Given the description of an element on the screen output the (x, y) to click on. 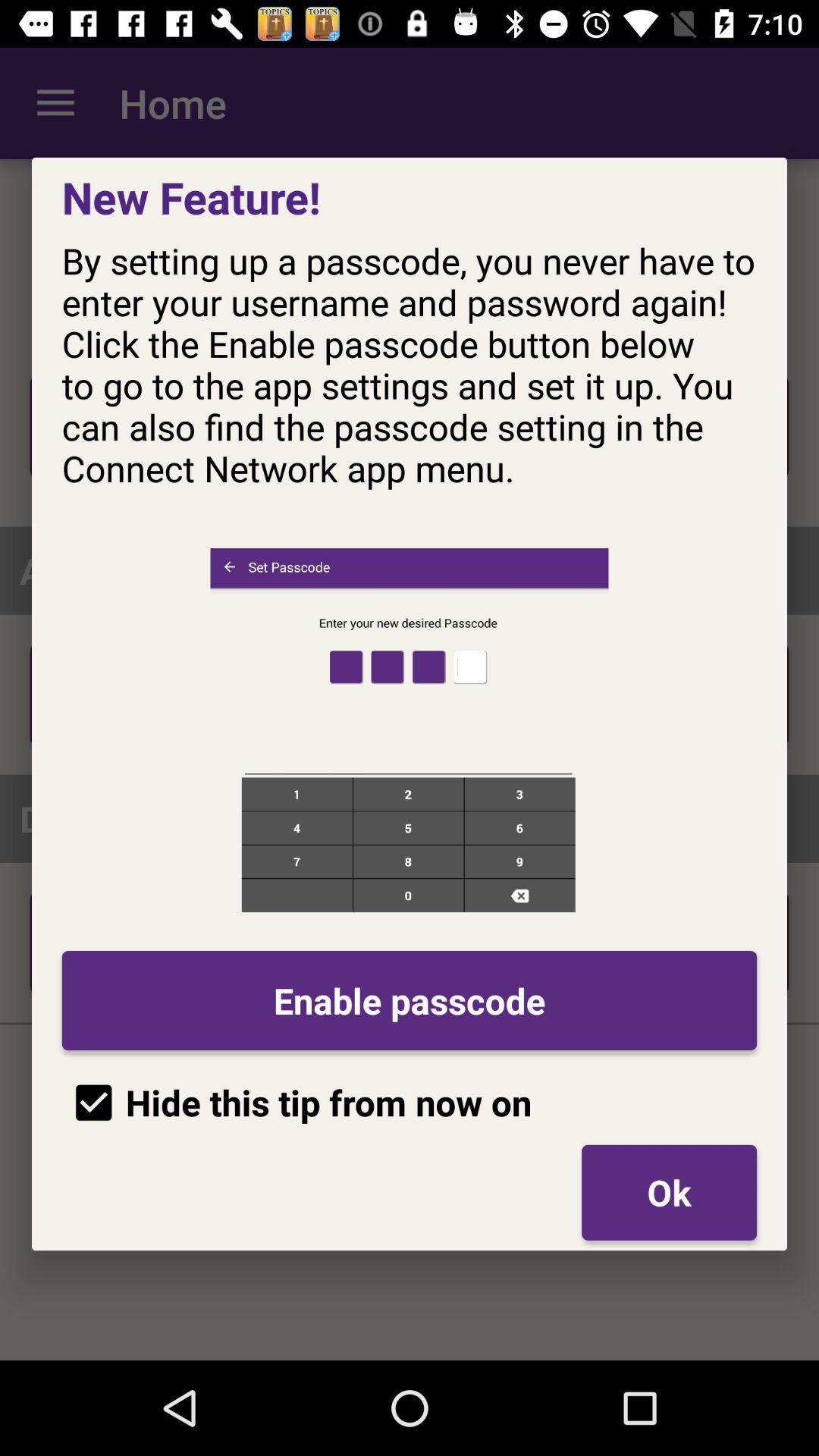
open the icon next to ok (296, 1102)
